Given the description of an element on the screen output the (x, y) to click on. 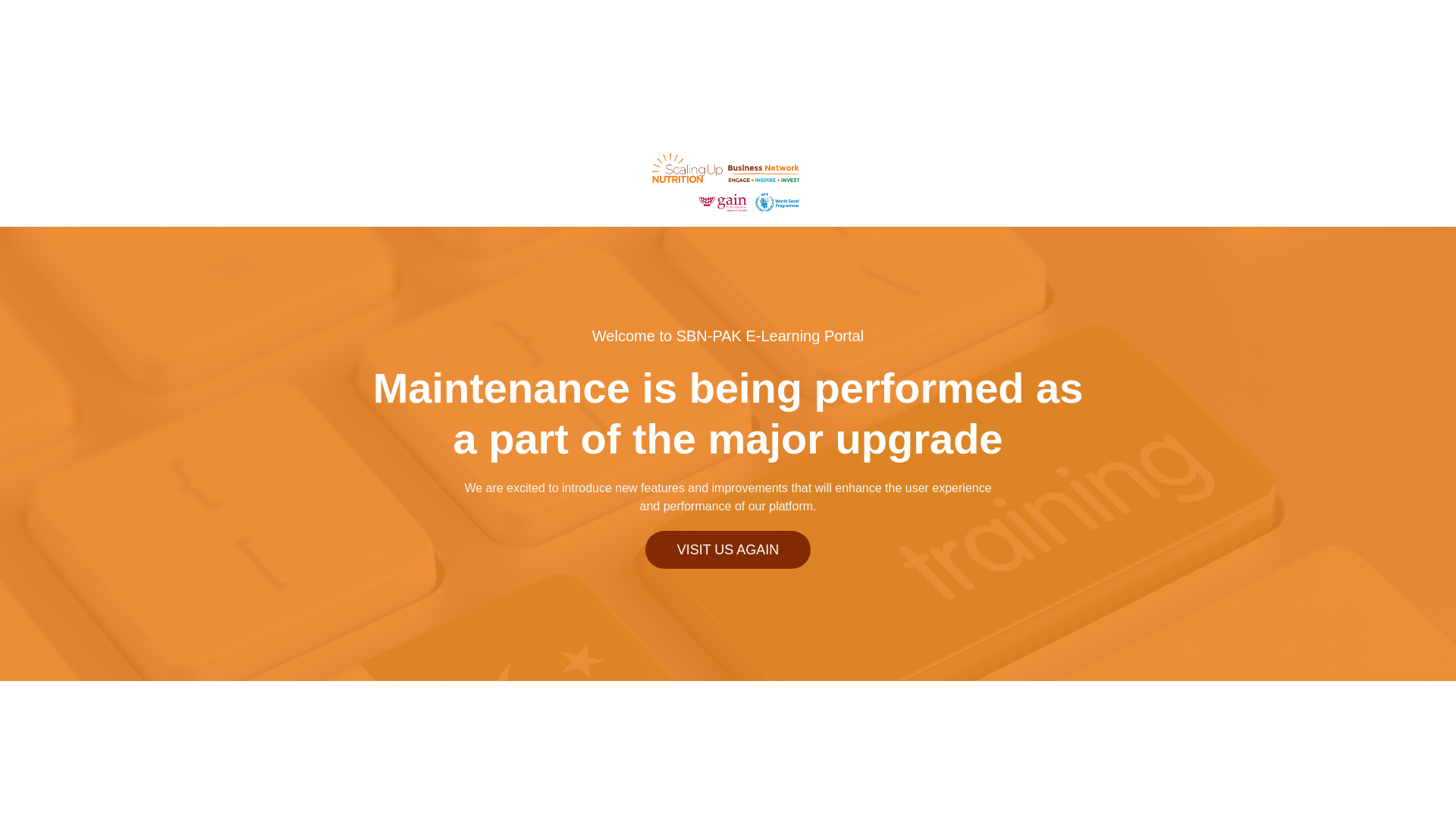
VISIT US AGAIN (727, 549)
